Given the description of an element on the screen output the (x, y) to click on. 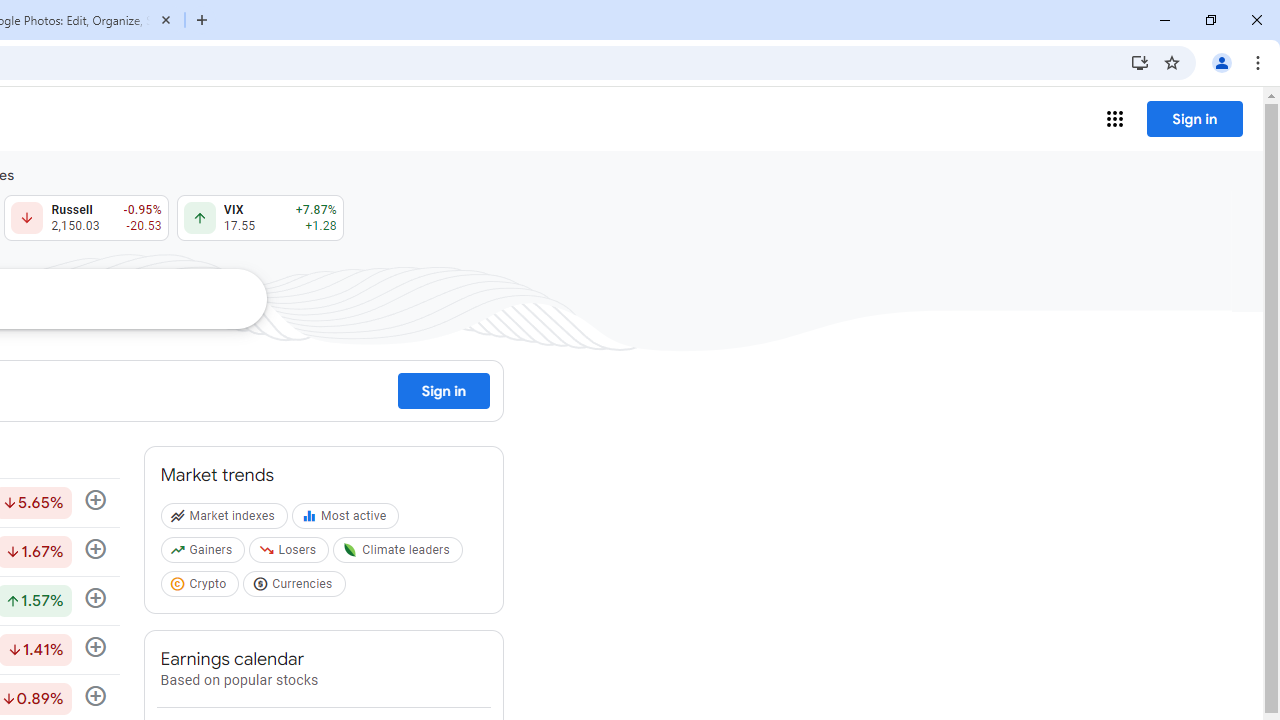
Most active (347, 520)
VIX 17.55 Up by 7.87% +1.28 (260, 218)
Follow (95, 647)
Market indexes (226, 520)
